Given the description of an element on the screen output the (x, y) to click on. 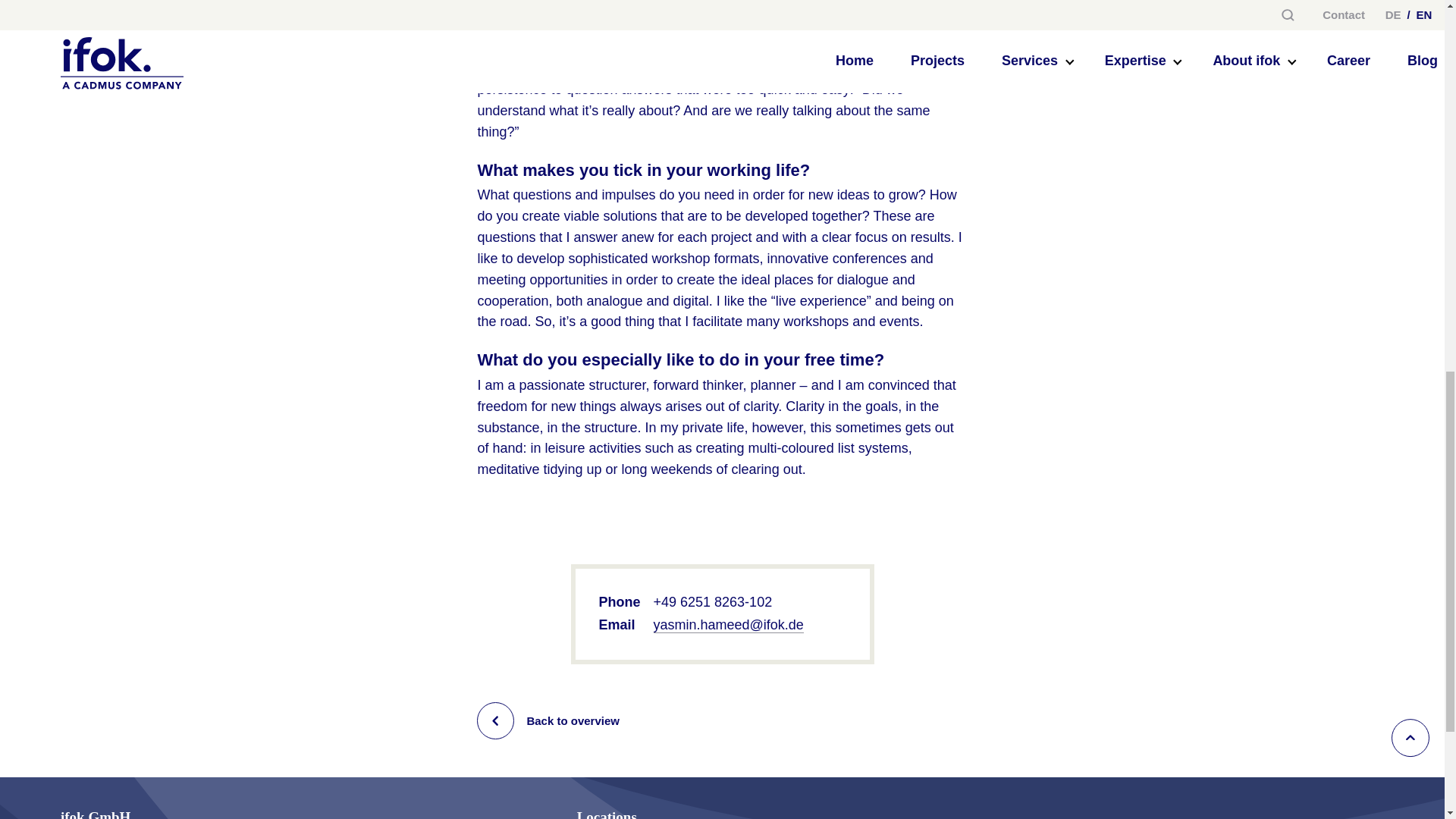
Back to top (1410, 737)
Back to overview (721, 720)
